Given the description of an element on the screen output the (x, y) to click on. 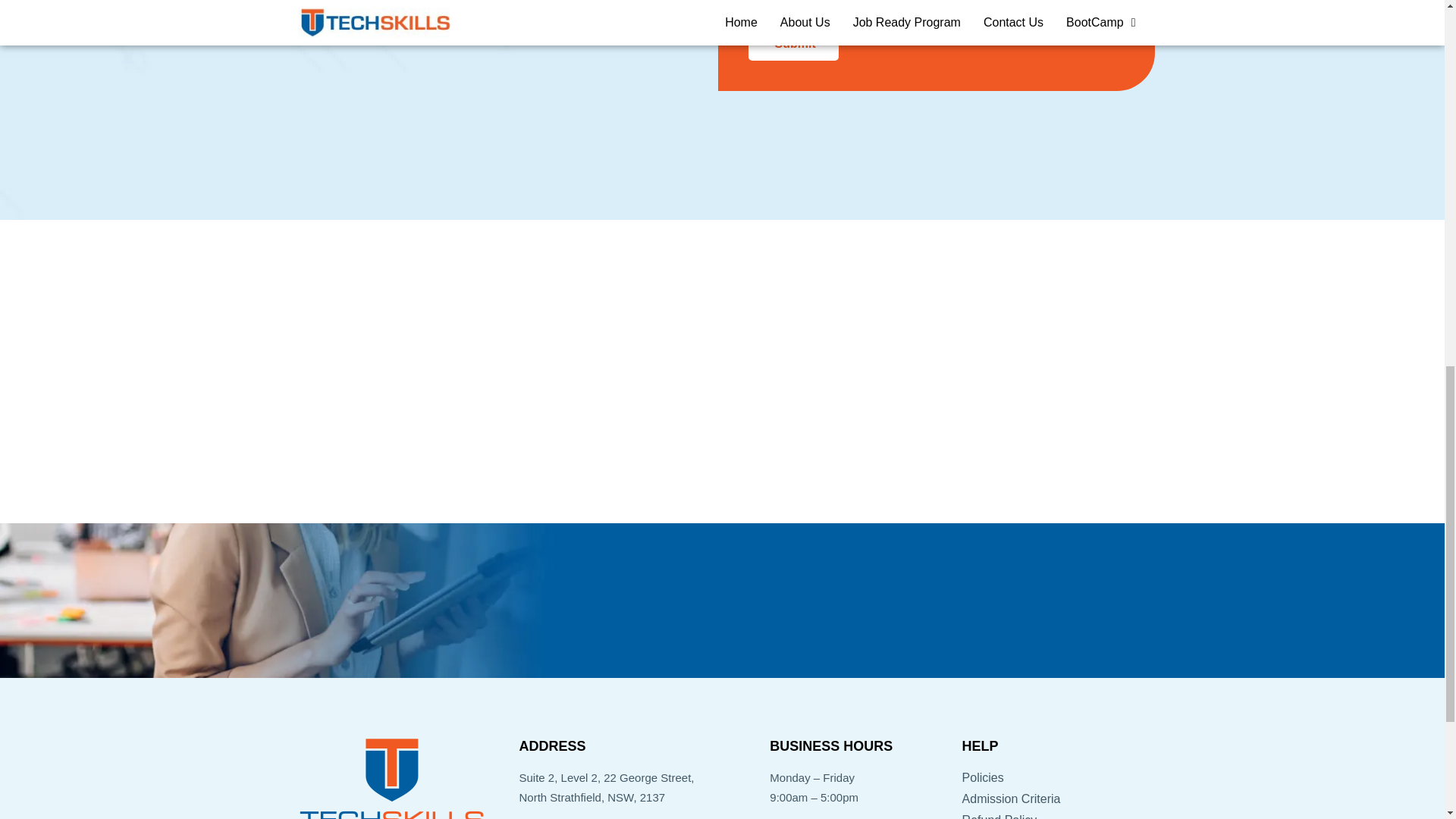
techskills-it-logo (391, 775)
